Given the description of an element on the screen output the (x, y) to click on. 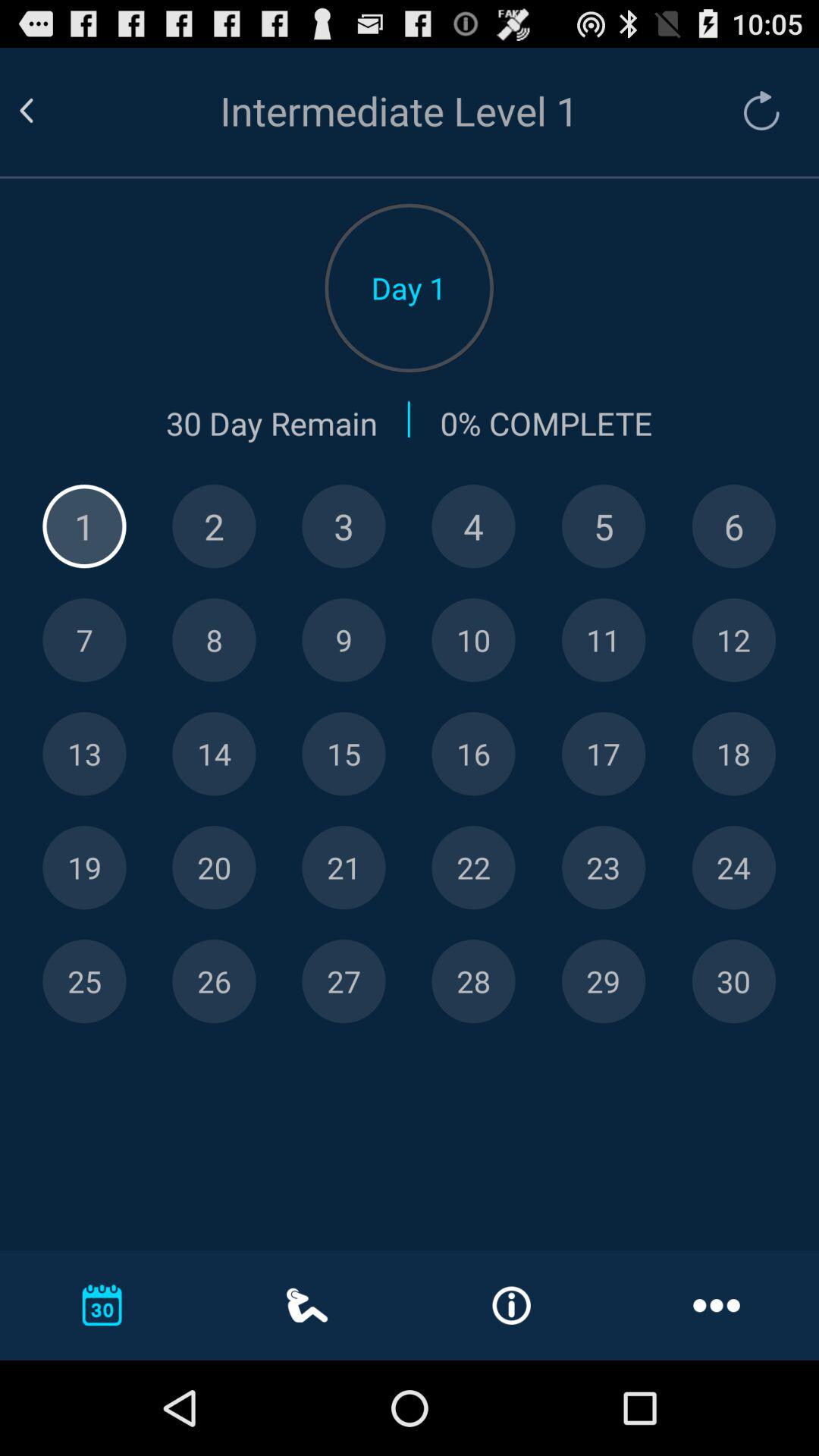
select 26 days remaining (213, 981)
